Given the description of an element on the screen output the (x, y) to click on. 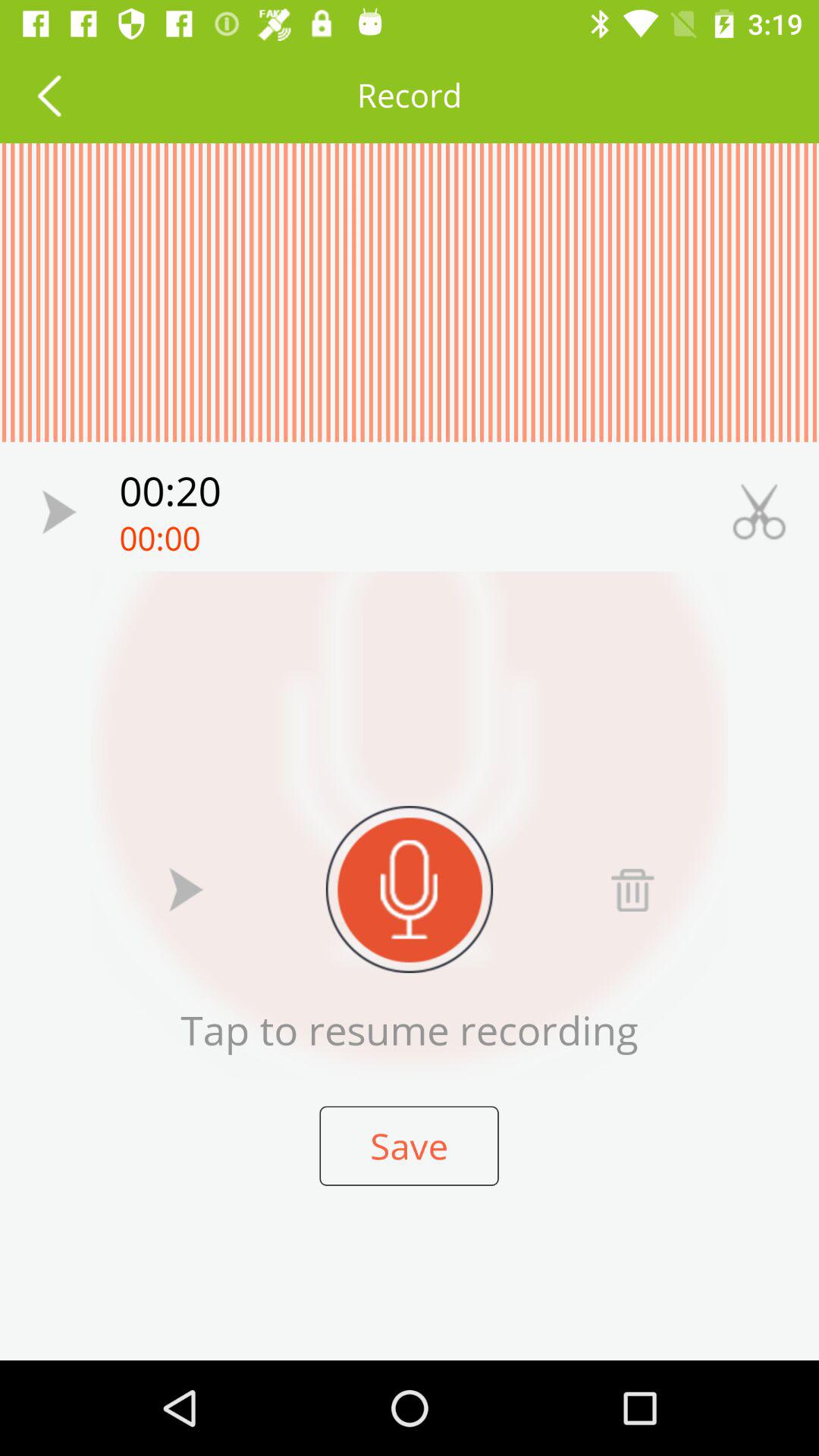
cut sample (759, 511)
